Given the description of an element on the screen output the (x, y) to click on. 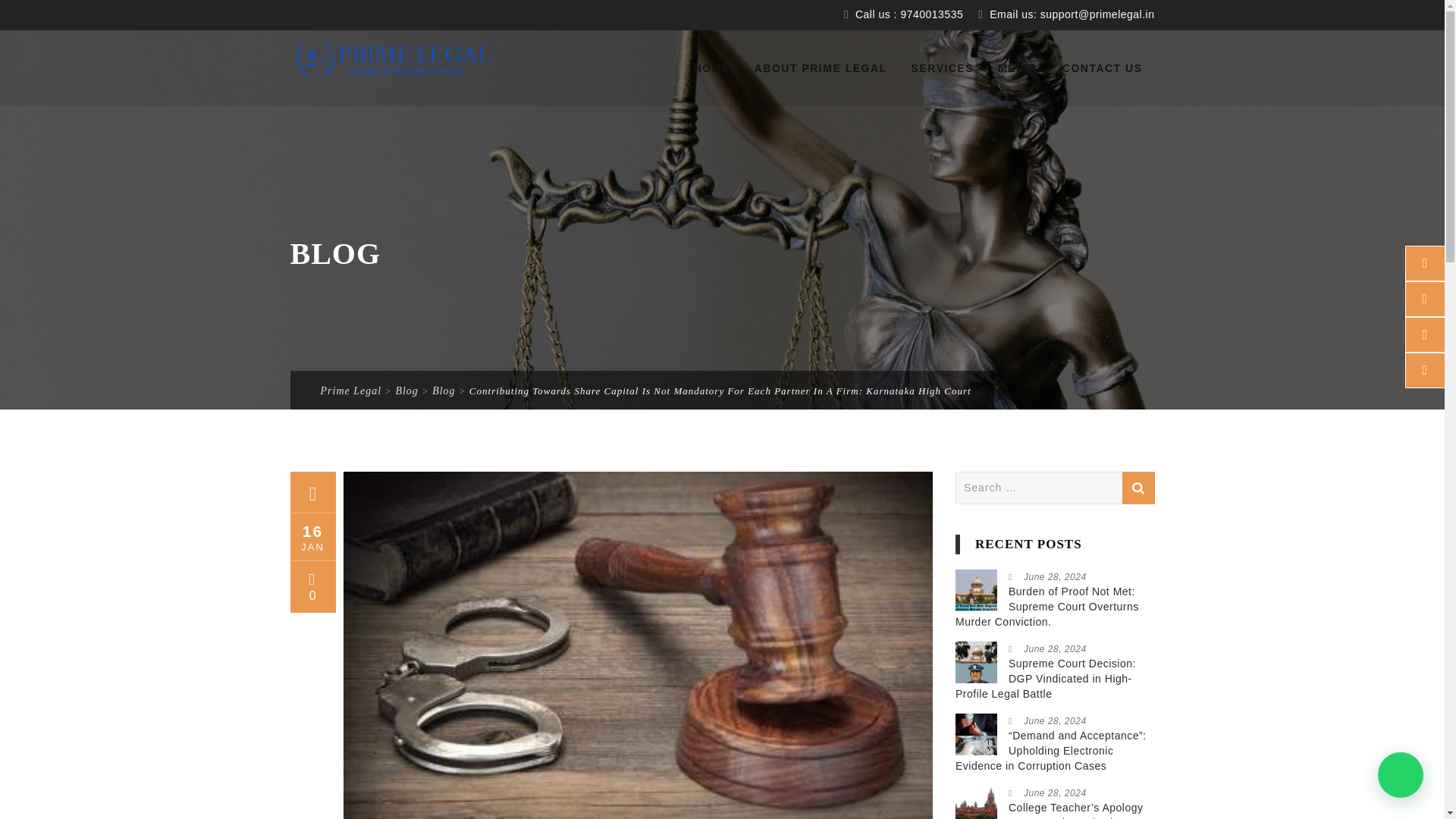
ABOUT PRIME LEGAL (820, 68)
Search (1138, 487)
9740013535 (929, 14)
Prime Legal (350, 390)
Prime Legal (393, 60)
Blog (443, 390)
Search (1138, 487)
Search (1138, 487)
CONTACT US (1102, 68)
Blog (405, 390)
